Given the description of an element on the screen output the (x, y) to click on. 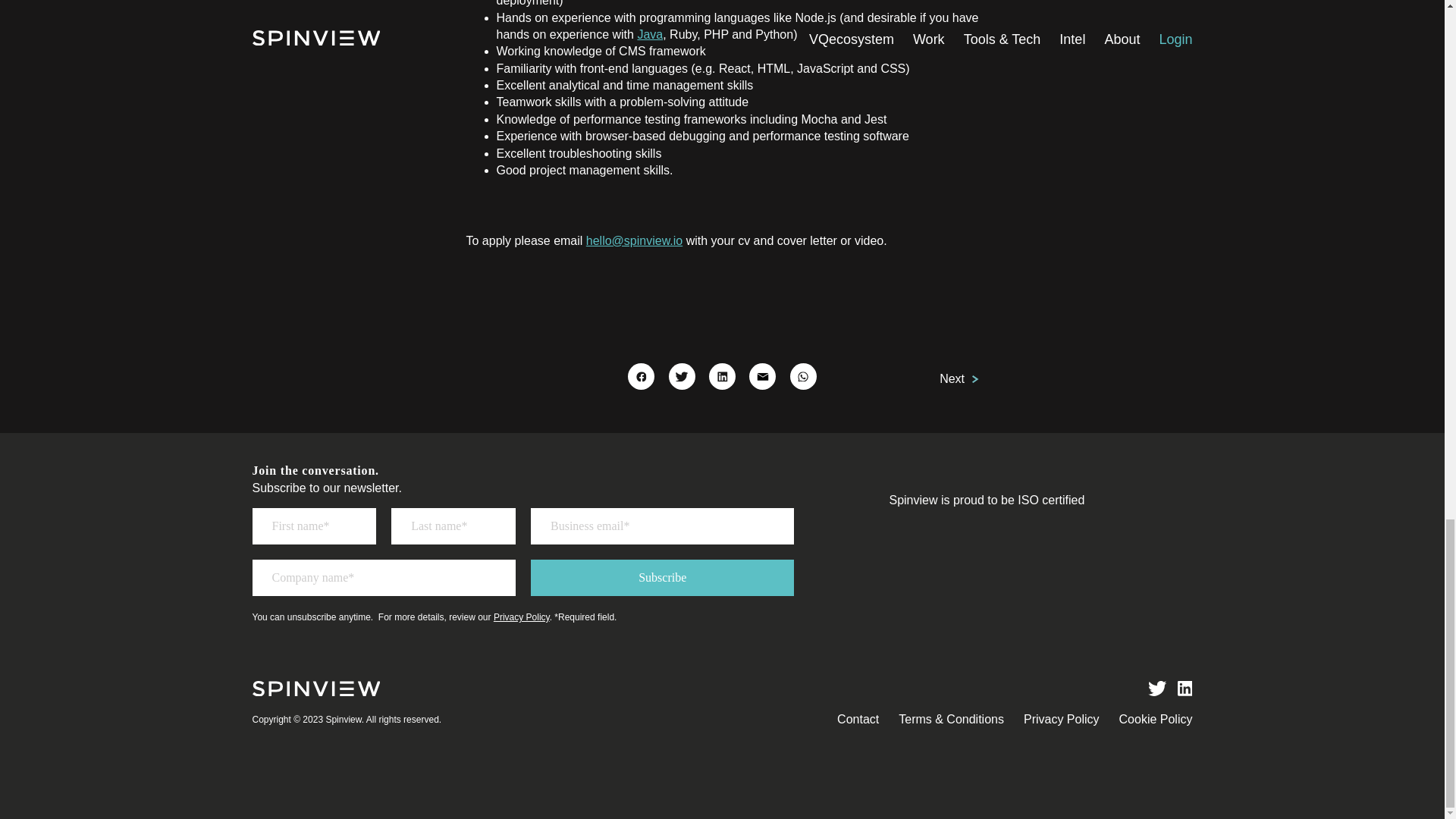
Java (649, 33)
Privacy Policy (521, 616)
Contact (858, 718)
Privacy Policy (1061, 718)
Cookie Policy (1155, 718)
Subscribe (662, 577)
Next (958, 379)
